Given the description of an element on the screen output the (x, y) to click on. 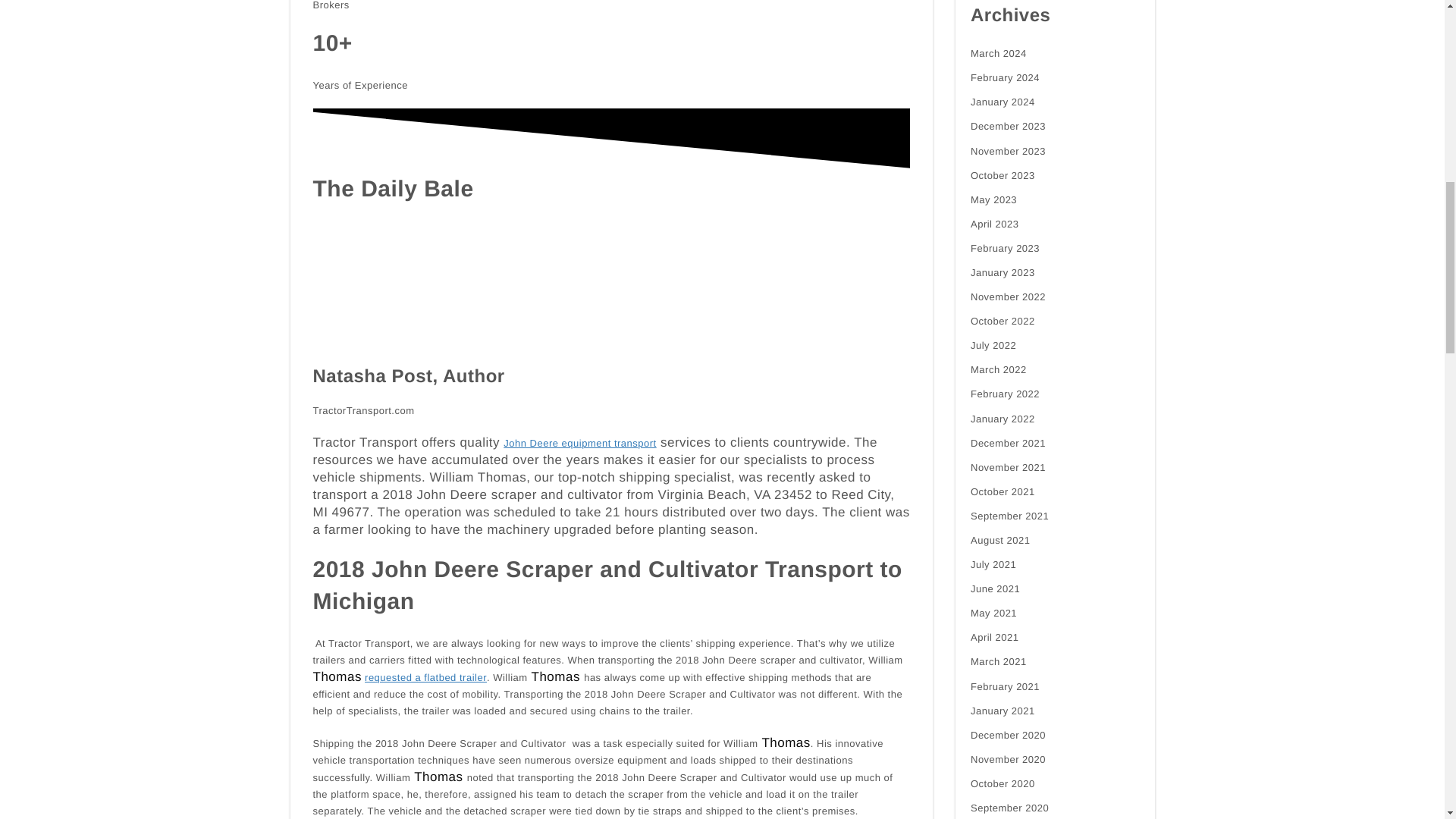
April 2023 (995, 224)
November 2023 (1008, 151)
May 2023 (993, 199)
John Deere equipment transport (579, 443)
March 2024 (998, 53)
January 2024 (1003, 102)
requested a flatbed trailer (425, 677)
February 2024 (1005, 77)
October 2023 (1003, 175)
December 2023 (1008, 126)
